Given the description of an element on the screen output the (x, y) to click on. 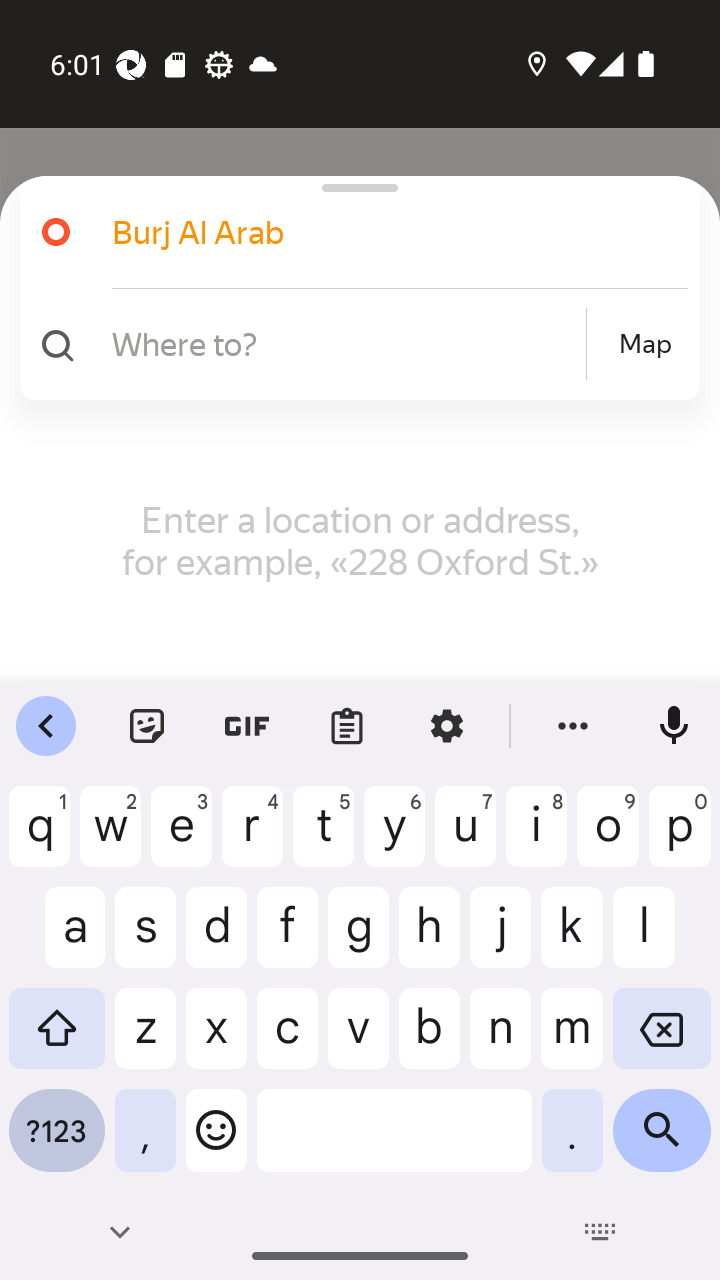
Burj Al Arab (352, 232)
Burj Al Arab (373, 232)
Where to? Map Map (352, 343)
Map (645, 343)
Where to? (346, 343)
